Given the description of an element on the screen output the (x, y) to click on. 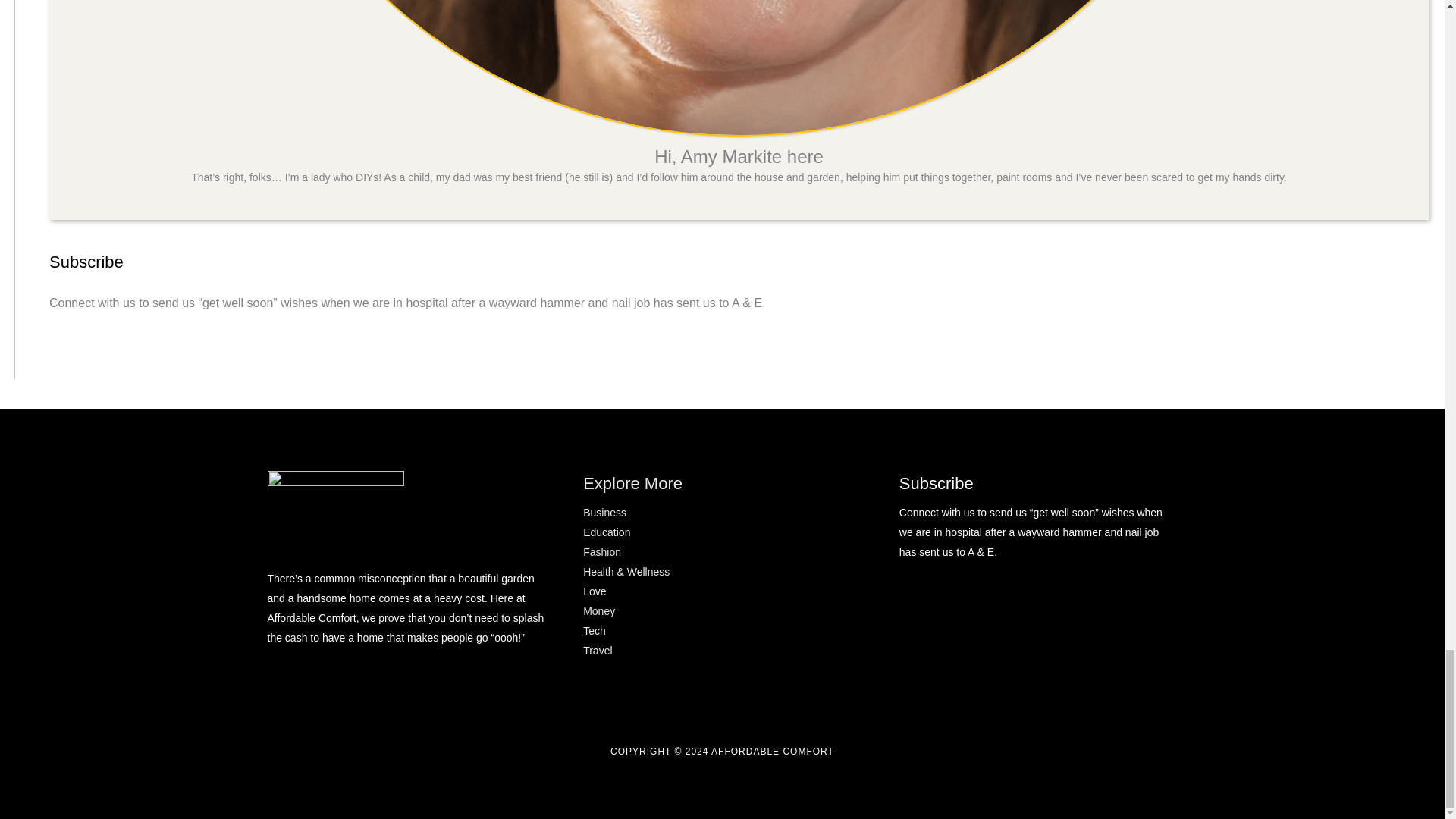
Education (606, 532)
Business (604, 512)
Fashion (602, 551)
